Given the description of an element on the screen output the (x, y) to click on. 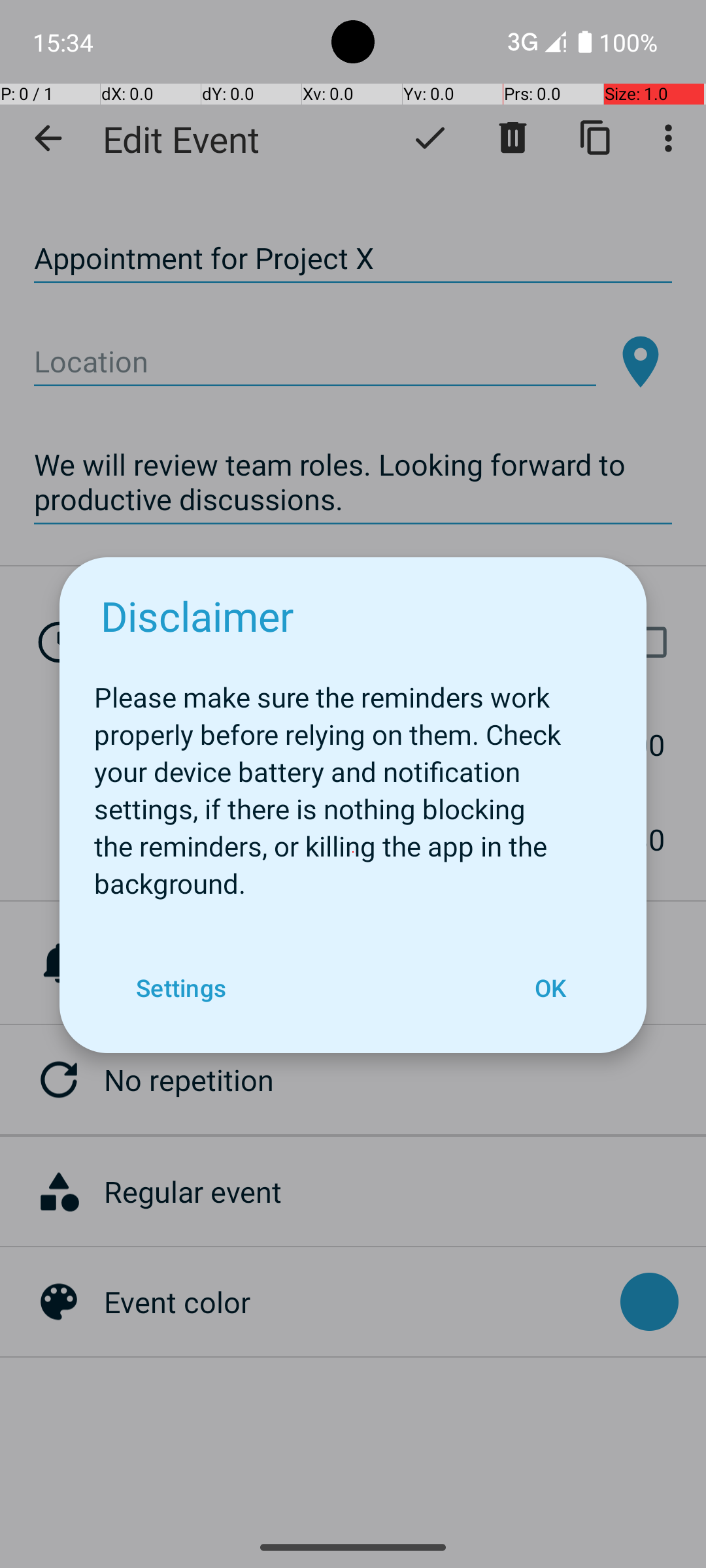
Disclaimer Element type: android.widget.TextView (196, 615)
Please make sure the reminders work properly before relying on them. Check your device battery and notification settings, if there is nothing blocking the reminders, or killing the app in the background. Element type: android.widget.TextView (352, 782)
